Given the description of an element on the screen output the (x, y) to click on. 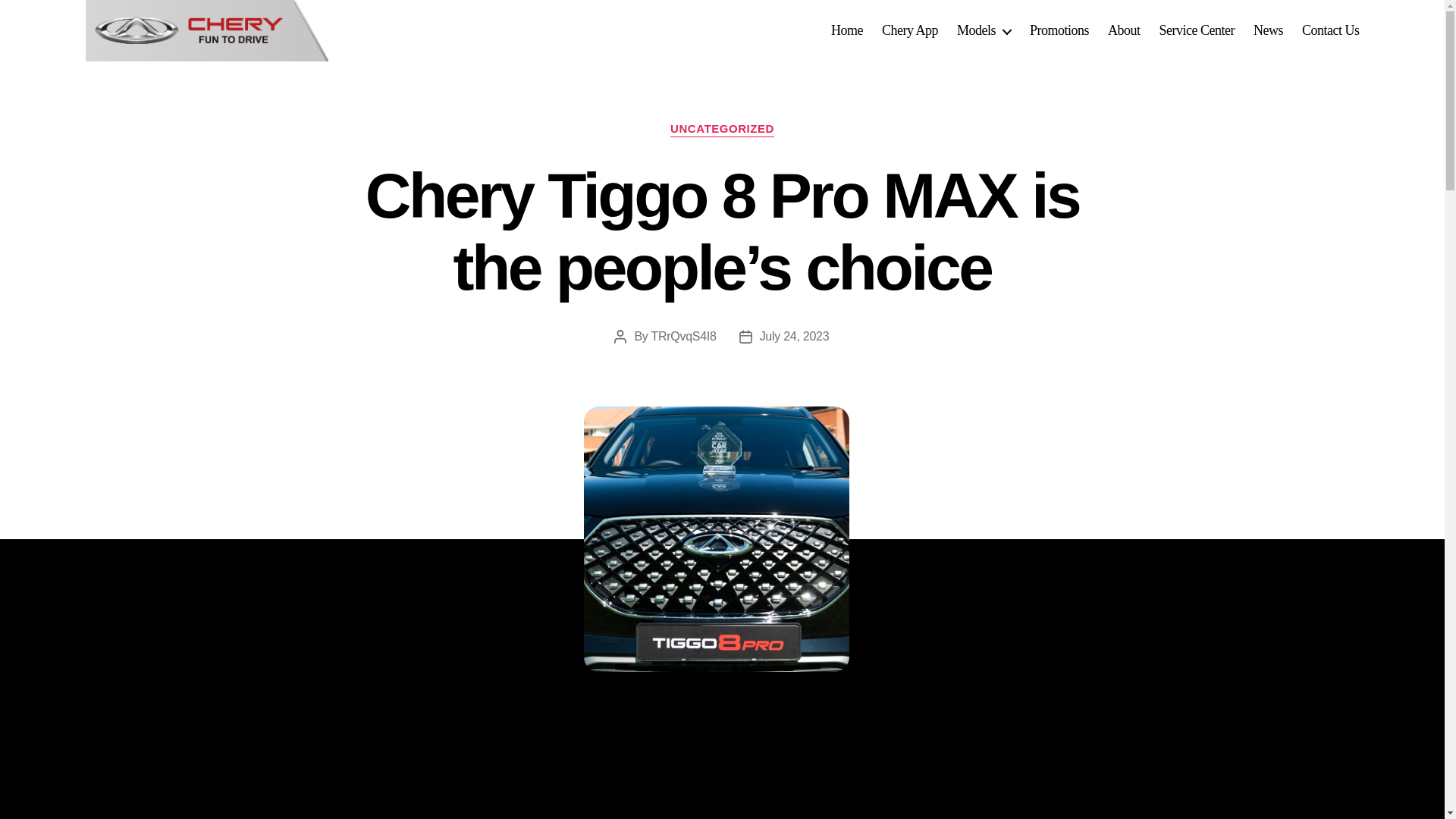
Chery App (909, 30)
Contact Us (1330, 30)
About (1124, 30)
Models (983, 30)
Service Center (1195, 30)
Promotions (1059, 30)
TRrQvqS4I8 (683, 336)
News (1267, 30)
UNCATEGORIZED (721, 129)
Home (847, 30)
